Given the description of an element on the screen output the (x, y) to click on. 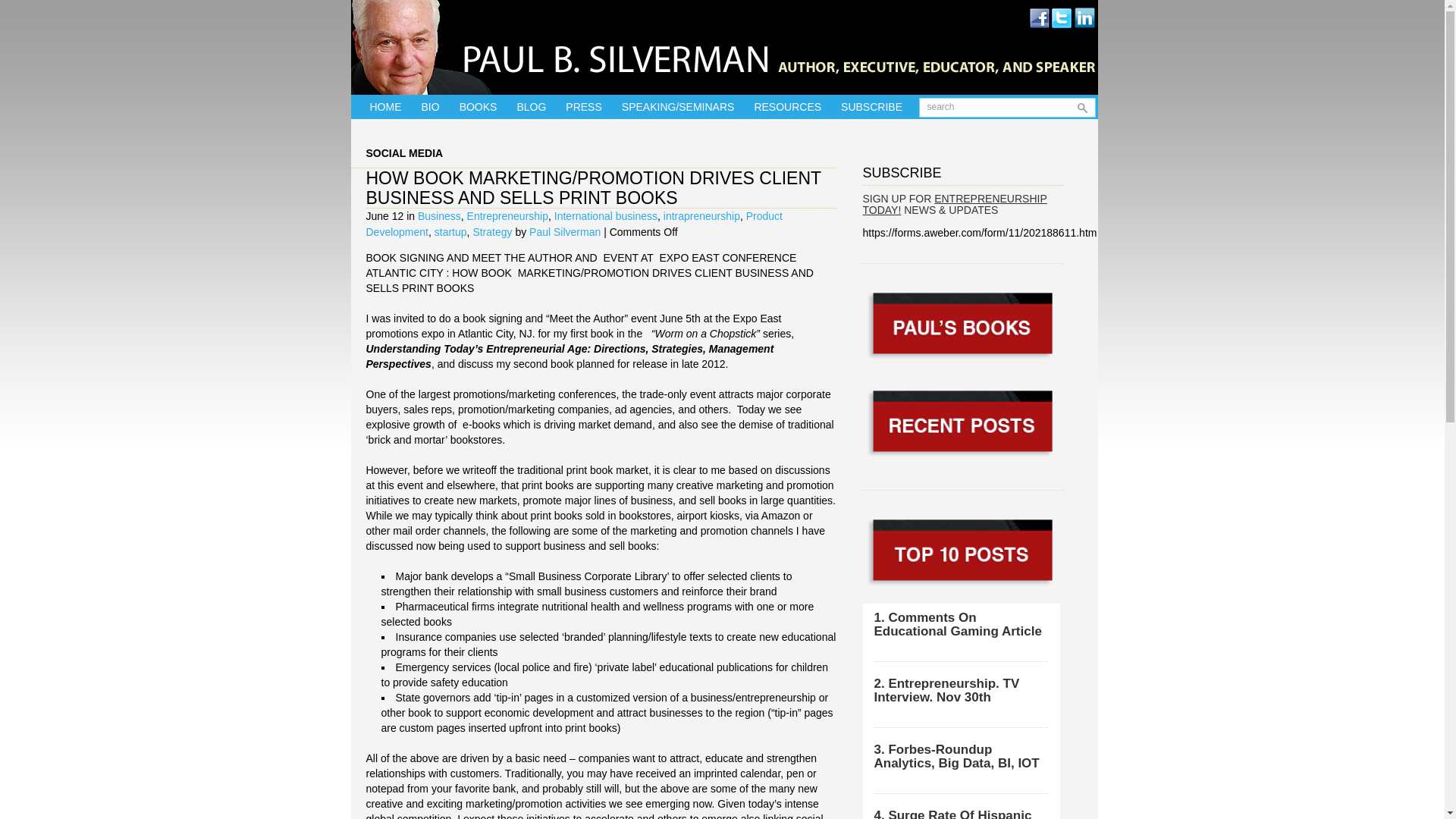
BLOG (531, 106)
PRESS (583, 106)
HOME (384, 106)
BIO (429, 106)
Product Development (573, 223)
Business (439, 215)
International business (606, 215)
Strategy (491, 232)
Paul B. Silverman (723, 110)
Entrepreneurship (507, 215)
